Given the description of an element on the screen output the (x, y) to click on. 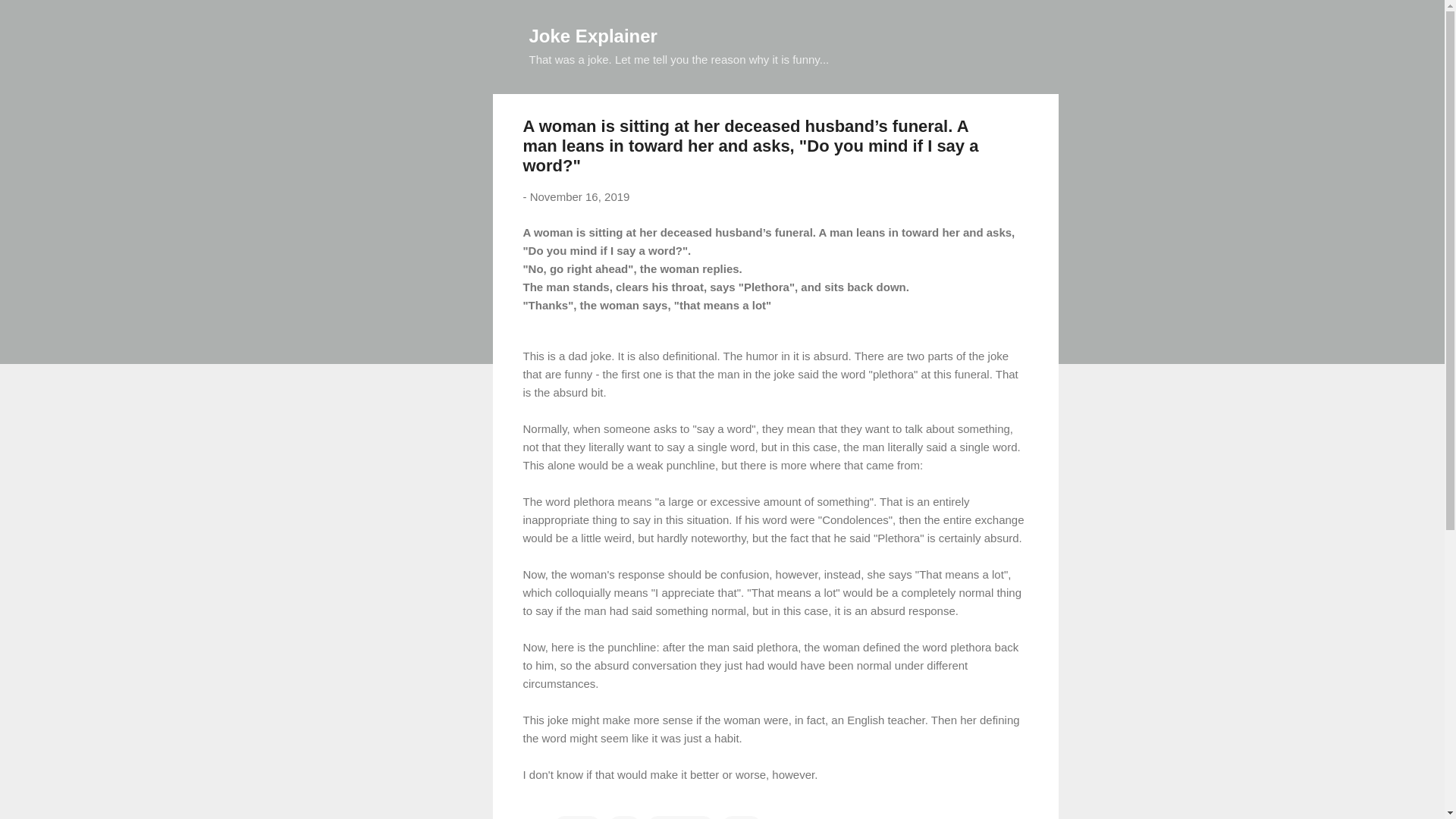
absurd (577, 817)
Joke Explainer (593, 35)
dad (624, 817)
Search (29, 18)
definitional (680, 817)
November 16, 2019 (579, 196)
permanent link (579, 196)
literal (740, 817)
